Given the description of an element on the screen output the (x, y) to click on. 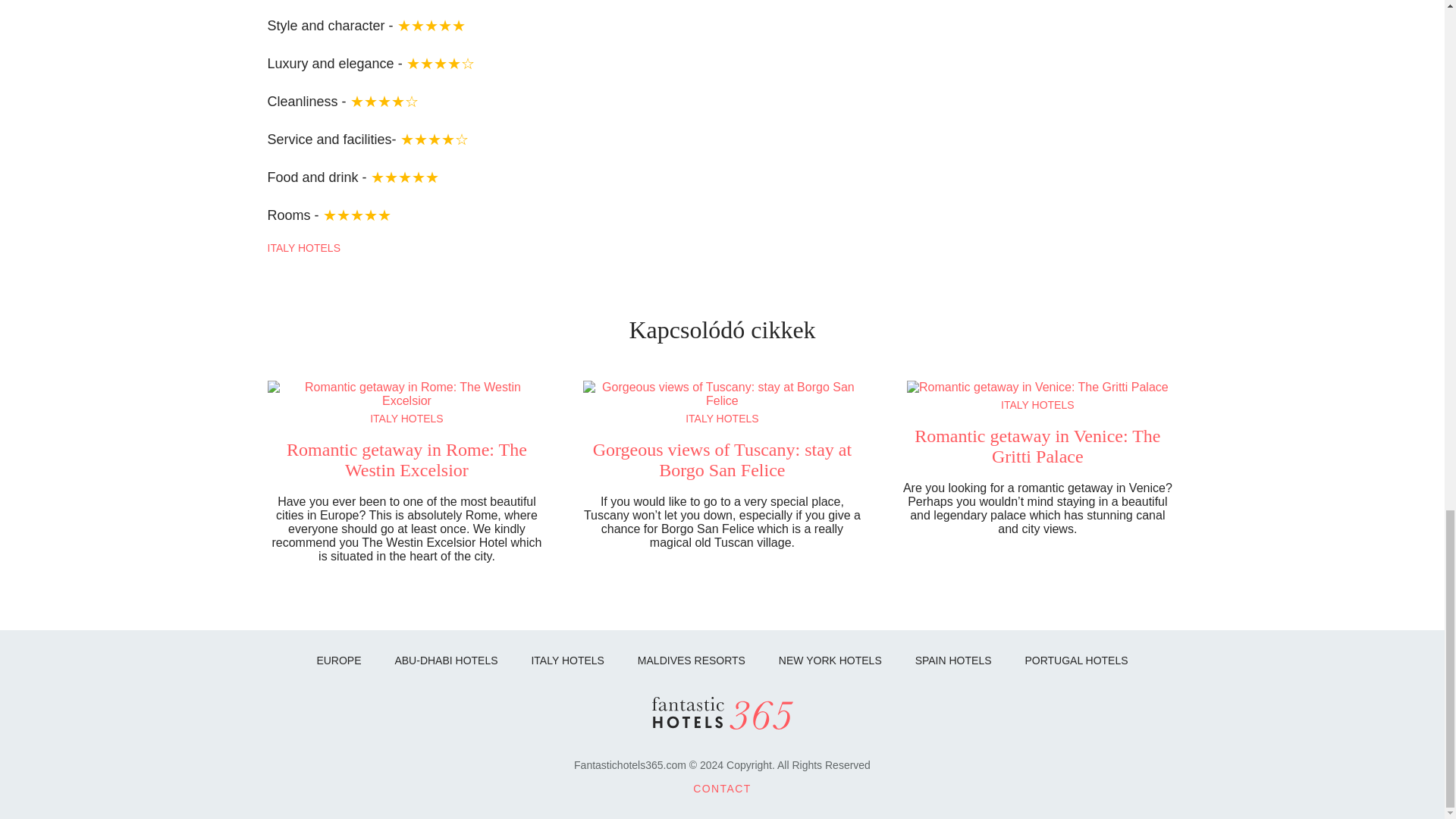
ITALY HOTELS (1037, 404)
PORTUGAL HOTELS (1075, 660)
ITALY HOTELS (721, 418)
EUROPE (338, 660)
ABU-DHABI HOTELS (445, 660)
ITALY HOTELS (302, 247)
CONTACT (722, 788)
ITALY HOTELS (405, 418)
MALDIVES RESORTS (691, 660)
ITALY HOTELS (566, 660)
Romantic getaway in Rome: The Westin Excelsior (405, 458)
Gorgeous views of Tuscany: stay at Borgo San Felice (721, 458)
Romantic getaway in Venice: The Gritti Palace (1037, 445)
SPAIN HOTELS (953, 660)
NEW YORK HOTELS (829, 660)
